Given the description of an element on the screen output the (x, y) to click on. 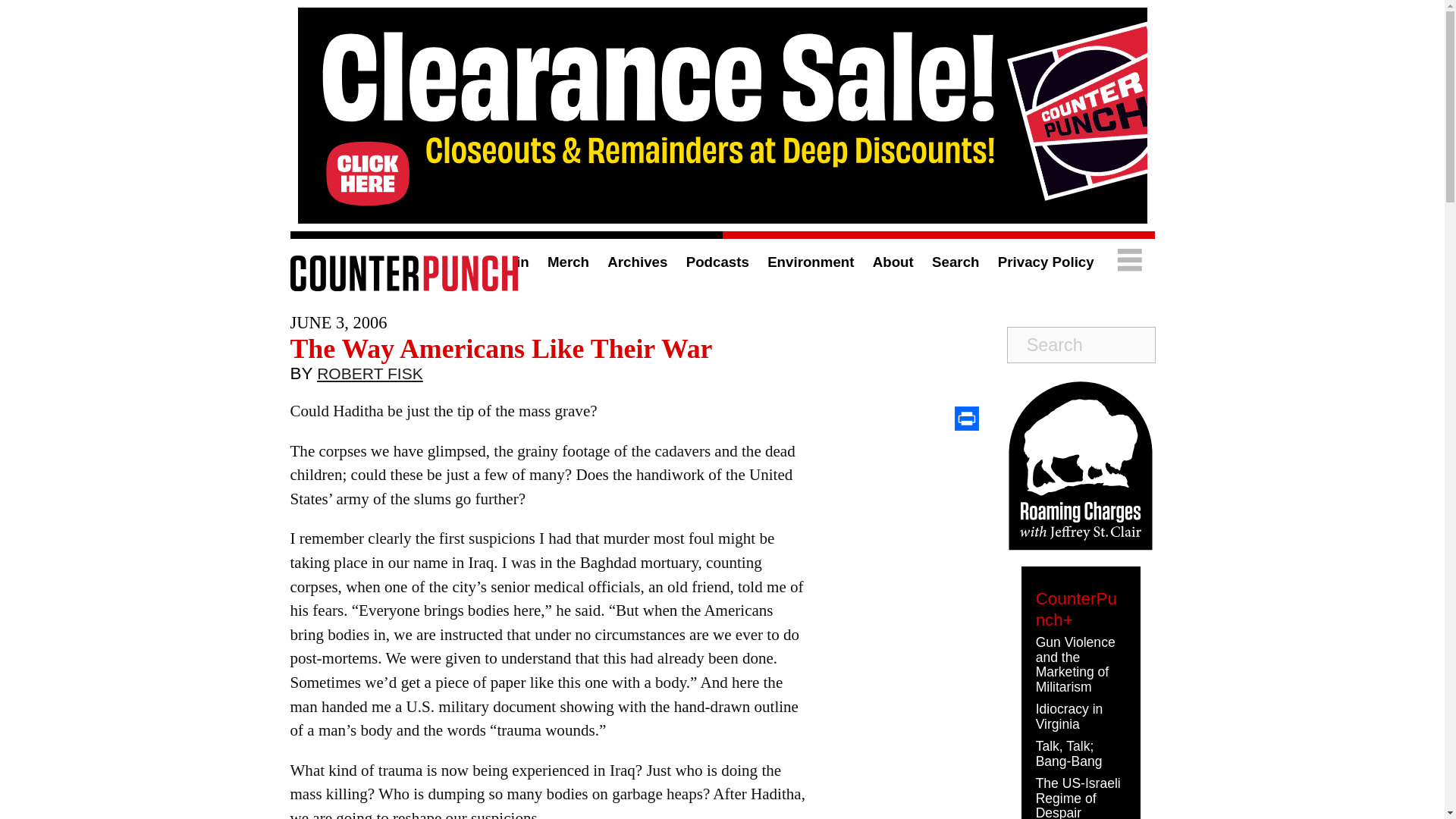
2006-06-03 (338, 322)
Idiocracy in Virginia (1069, 716)
Search (954, 261)
The US-Israeli Regime of Despair (1078, 797)
Print This Post (966, 418)
Merch (568, 261)
Login (509, 261)
Privacy Policy (1045, 261)
ROBERT FISK (370, 376)
The Way Americans Like Their War (500, 348)
Environment (810, 261)
About (893, 261)
Gun Violence and the Marketing of Militarism (1075, 664)
Podcasts (717, 261)
Archives (636, 261)
